Given the description of an element on the screen output the (x, y) to click on. 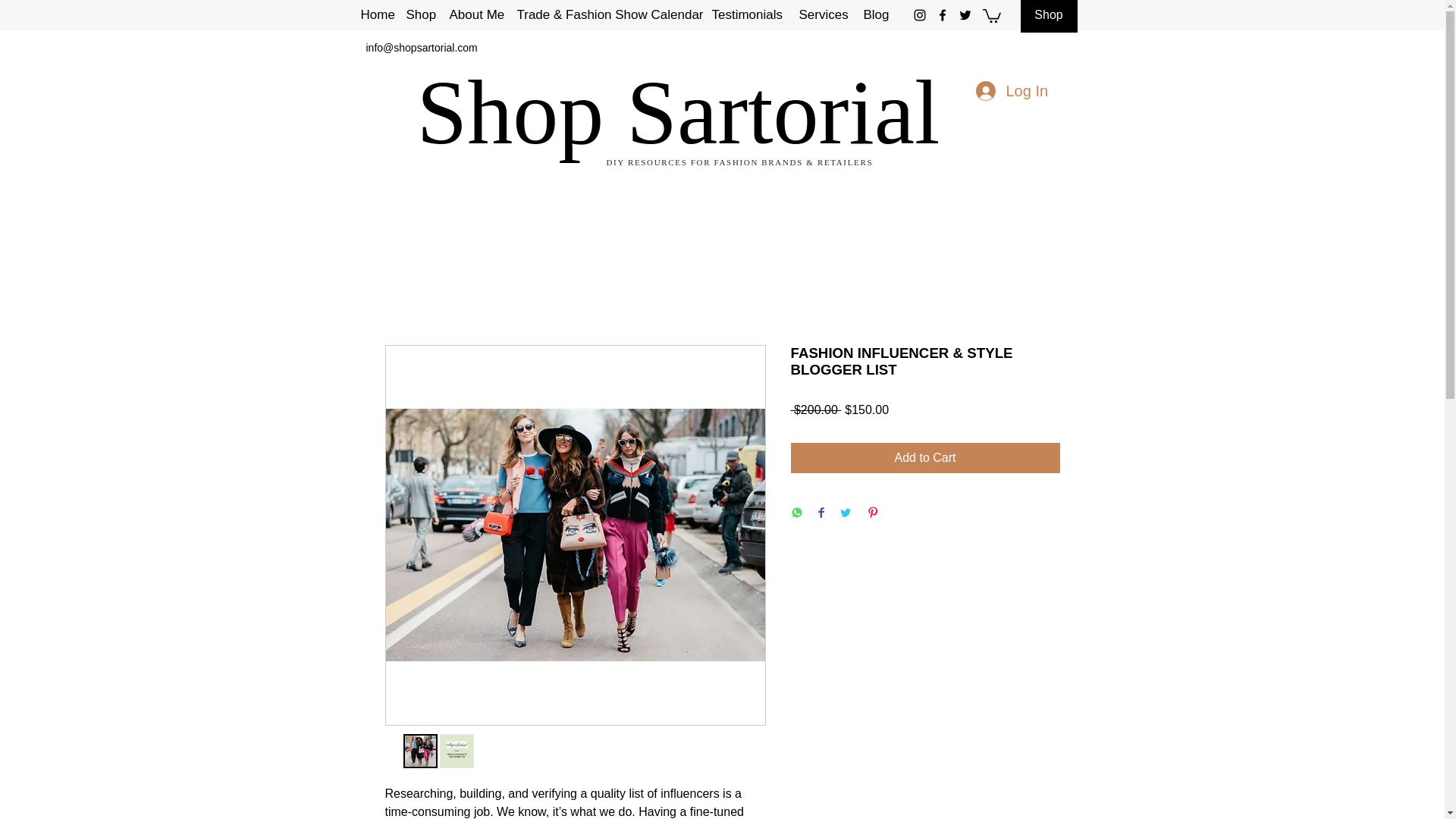
Blog (876, 15)
Shop Sartorial  (689, 112)
Add to Cart (924, 458)
Home (375, 15)
Services (824, 15)
Shop (1048, 16)
Testimonials (746, 15)
Log In (1009, 91)
About Me (474, 15)
Shop (420, 15)
